Given the description of an element on the screen output the (x, y) to click on. 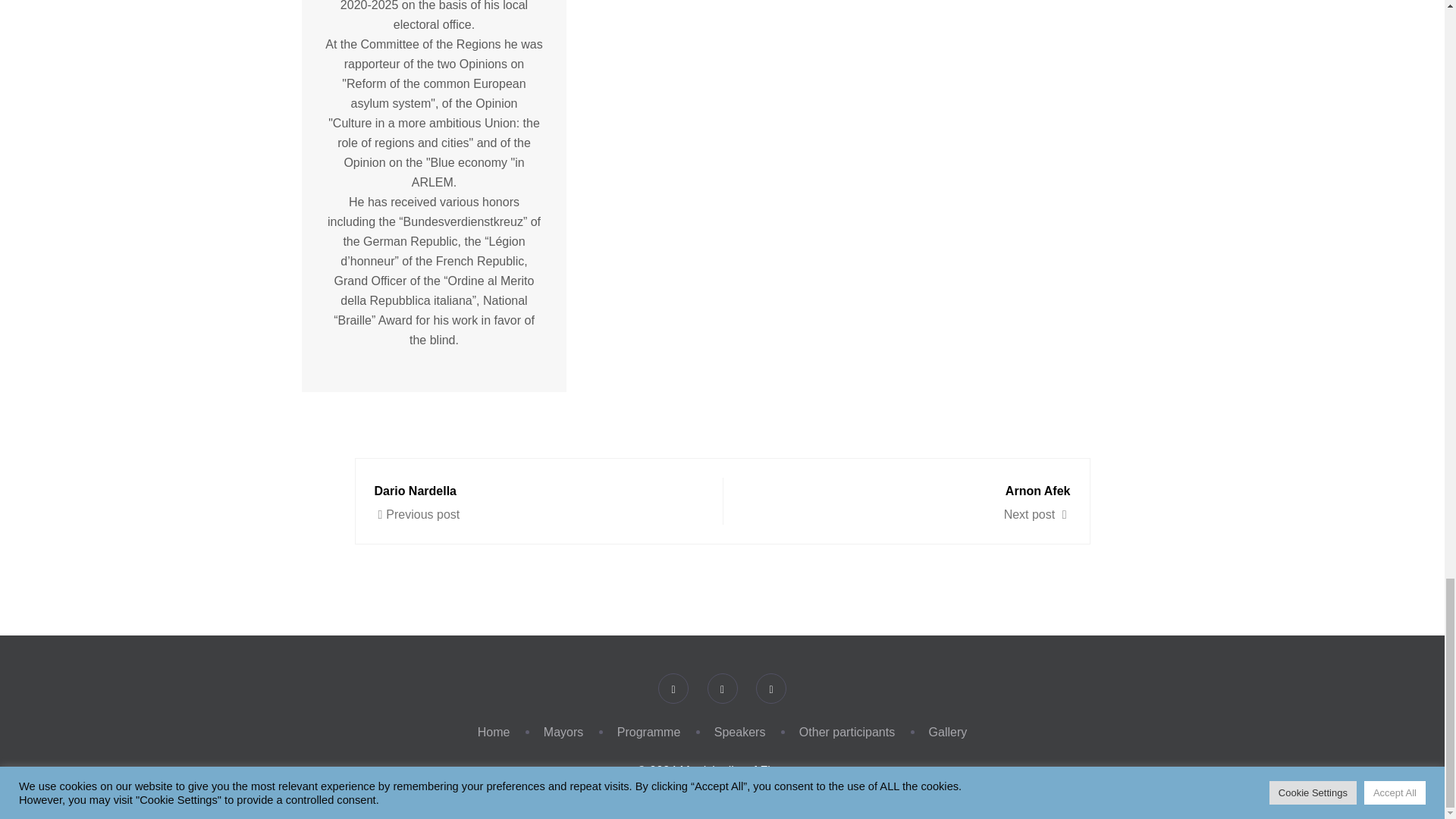
Mayors (912, 500)
Other participants (563, 731)
Programme (847, 731)
Home (649, 731)
Speakers (494, 731)
Gallery (739, 731)
